Given the description of an element on the screen output the (x, y) to click on. 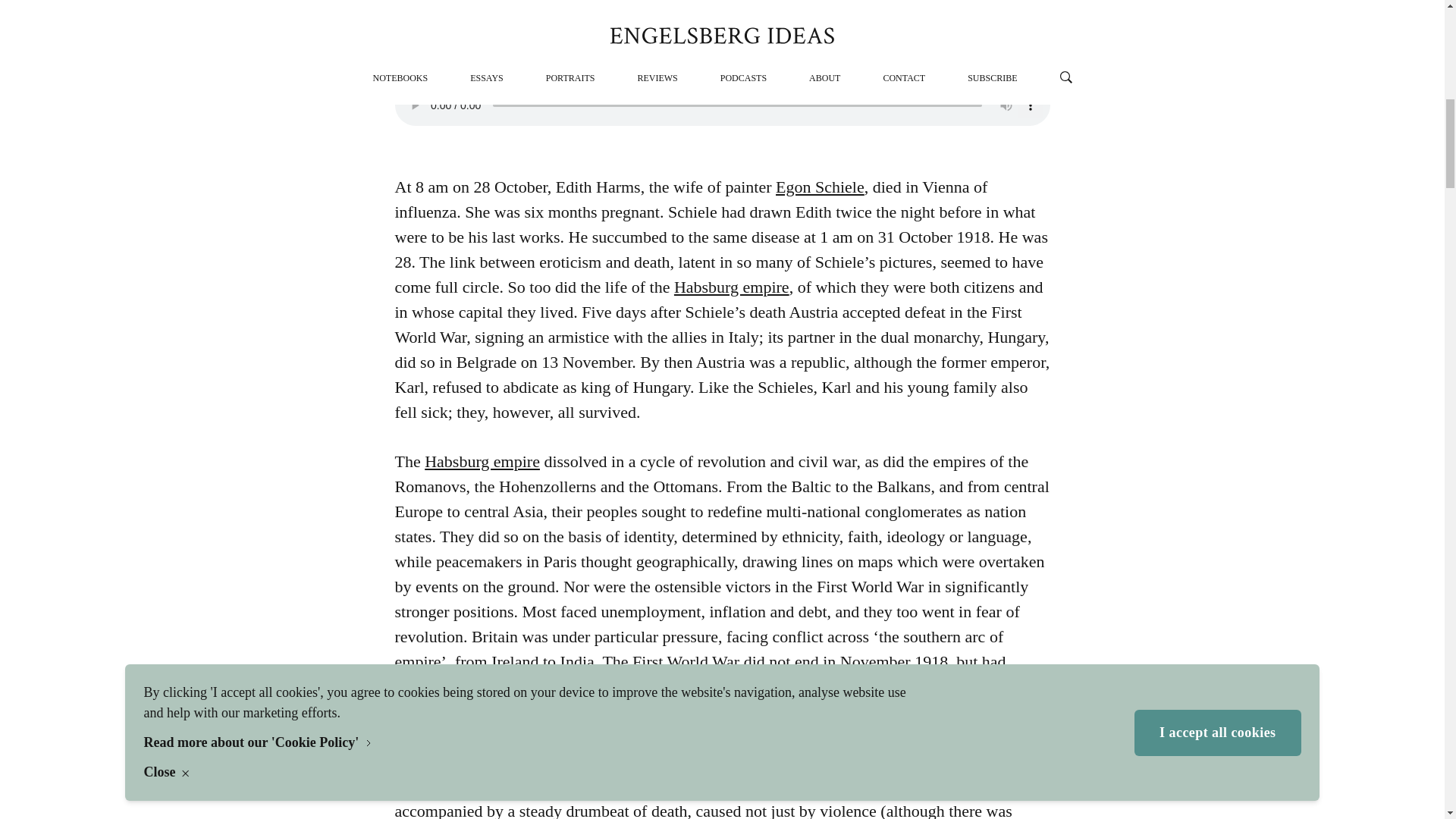
Habsburg empire (731, 286)
Habsburg empire (482, 461)
Egon Schiele (820, 186)
